Given the description of an element on the screen output the (x, y) to click on. 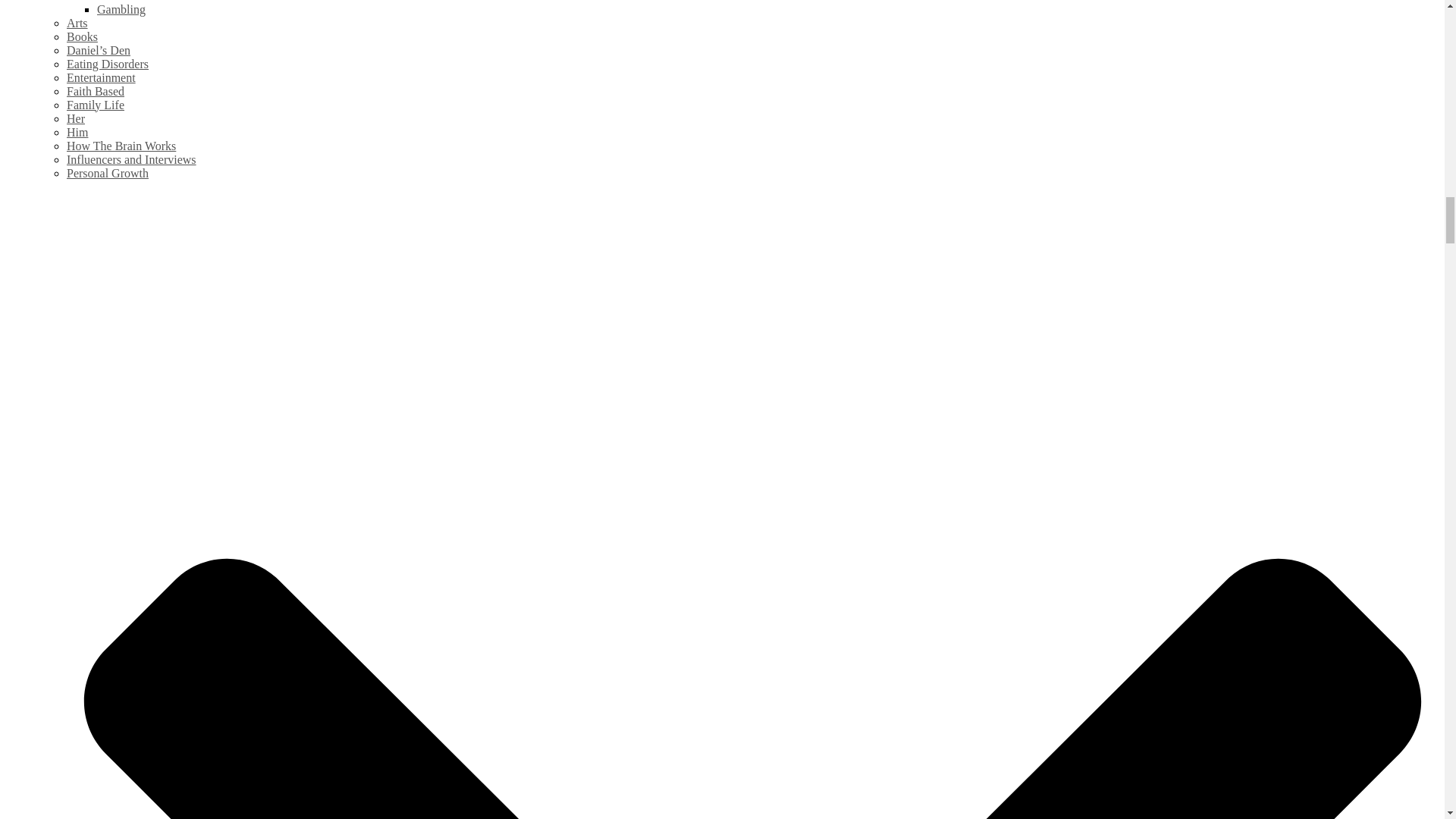
Eating Disorders (107, 63)
Him (76, 132)
Eating Disorders (107, 63)
Influencers and Interviews (131, 159)
Books (81, 36)
Faith Based (94, 91)
Entertainment (100, 77)
Family Life (94, 104)
Faith Based (94, 91)
Gambling (121, 9)
Her (75, 118)
Arts (76, 22)
How The Brain Works (121, 145)
Entertainment (100, 77)
Arts (76, 22)
